Given the description of an element on the screen output the (x, y) to click on. 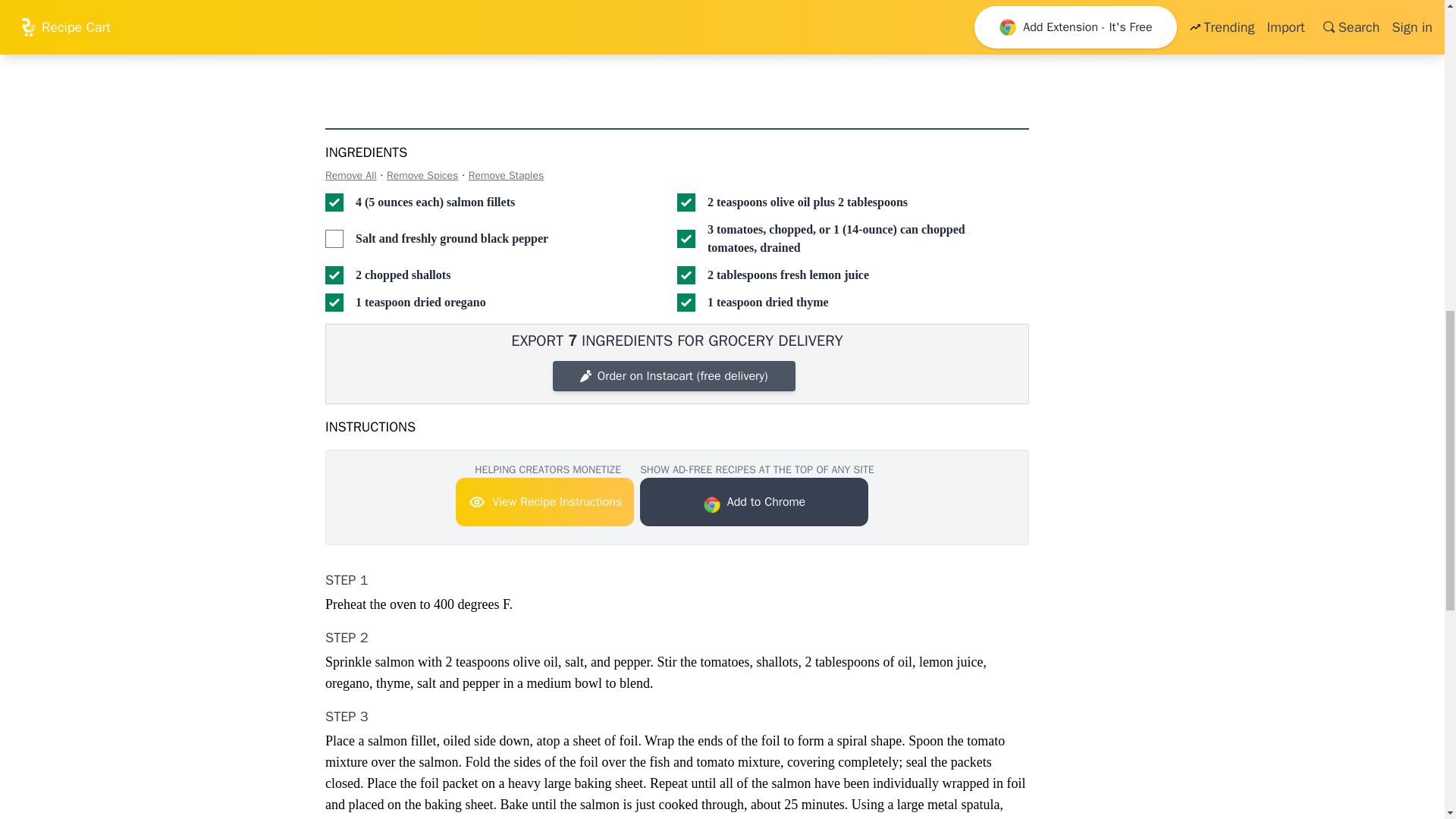
Salt and freshly ground black pepper (333, 239)
2 tablespoons fresh lemon juice (686, 275)
1 teaspoon dried oregano (333, 302)
Add to Chrome (753, 501)
Advertisement (676, 52)
2 teaspoons olive oil plus 2 tablespoons (686, 202)
View Recipe Instructions (544, 501)
Advertisement (144, 36)
1 teaspoon dried thyme (686, 302)
2 chopped shallots (333, 275)
